Given the description of an element on the screen output the (x, y) to click on. 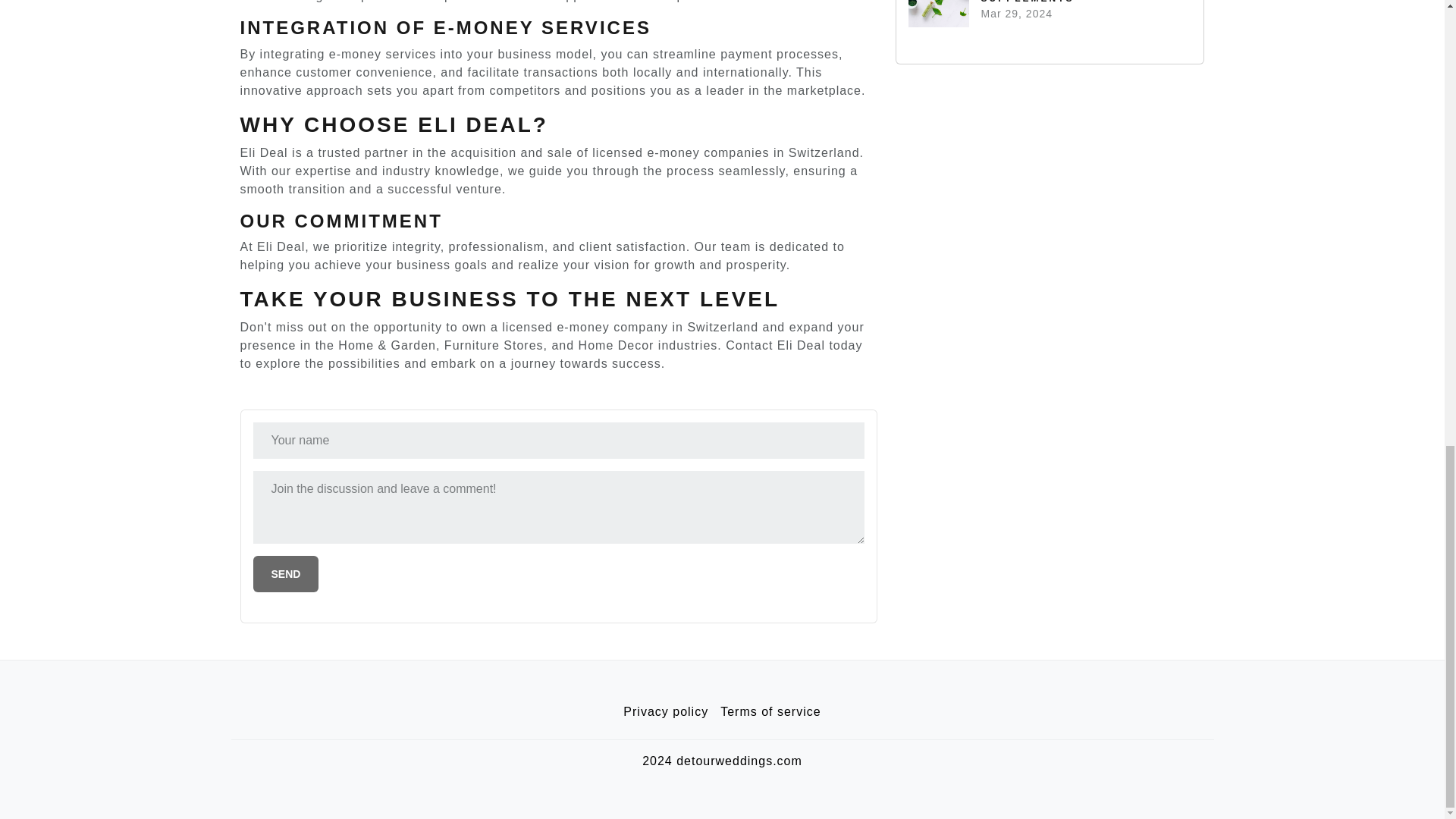
Terms of service (770, 711)
Send (285, 574)
Send (285, 574)
Privacy policy (665, 711)
